Given the description of an element on the screen output the (x, y) to click on. 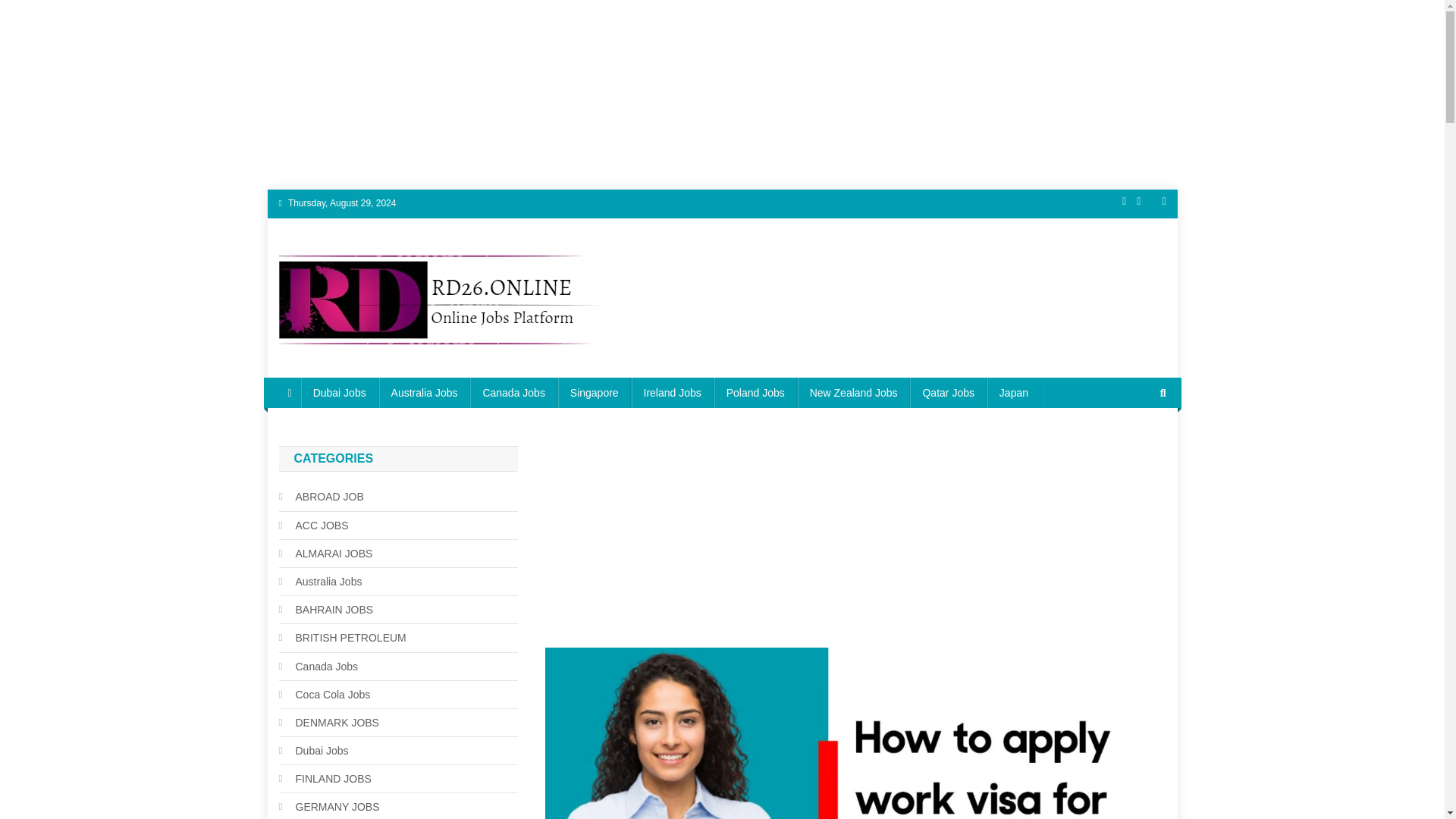
Qatar Jobs (947, 392)
Japan (1014, 392)
Poland Jobs (755, 392)
Ireland Jobs (672, 392)
Dubai Jobs (339, 392)
Rd26.Online (349, 361)
New Zealand Jobs (853, 392)
Search (1133, 443)
Canada Jobs (513, 392)
Singapore (593, 392)
